Given the description of an element on the screen output the (x, y) to click on. 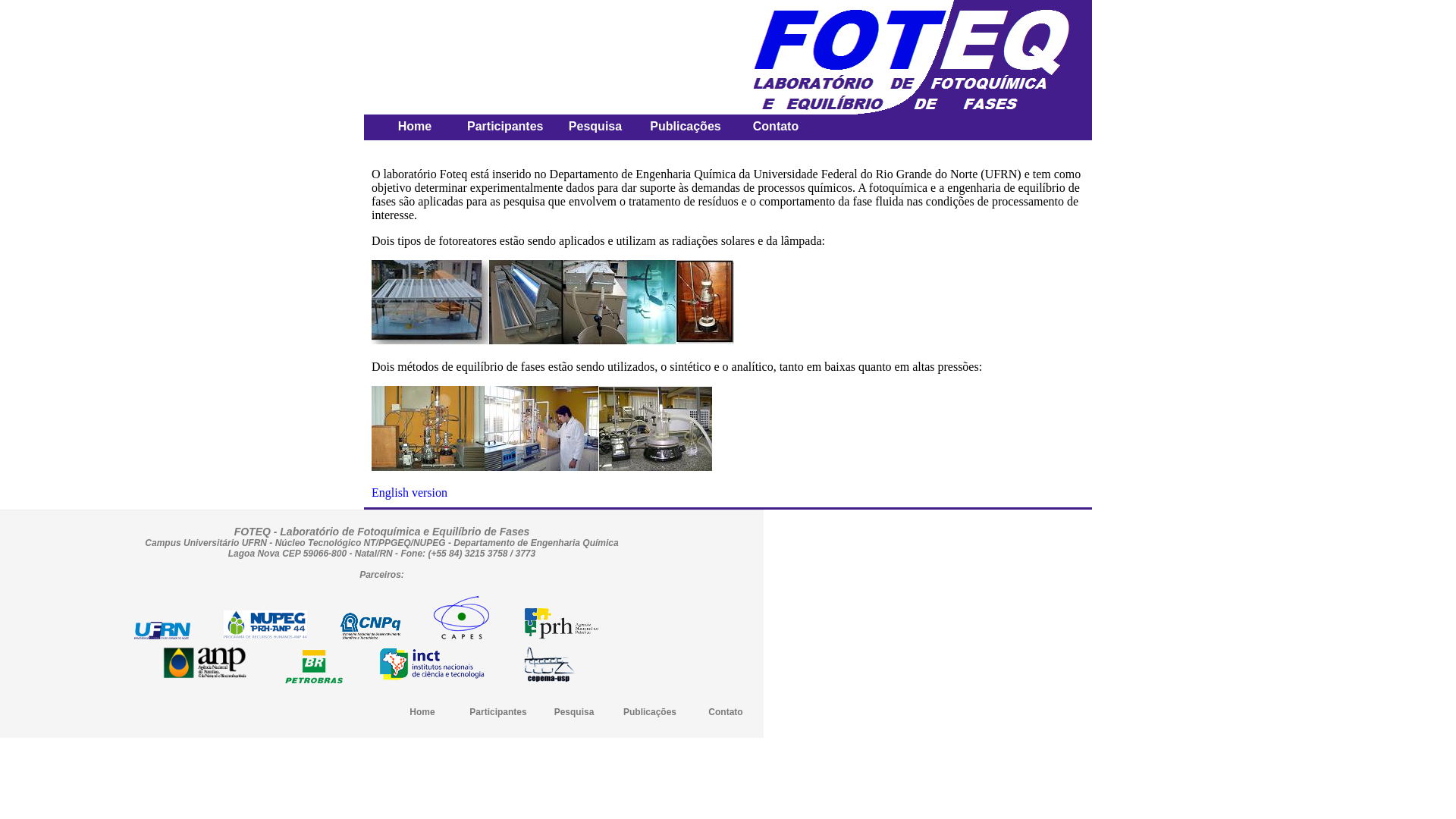
UFRN - Universidade Federal do Rio Grande do Norte Element type: hover (162, 630)
PRH ANP - Programa de Recursos Humanos ANP Element type: hover (561, 622)
Participantes Element type: text (497, 711)
Pesquisa Element type: text (574, 711)
Contato Element type: text (725, 711)
Aparelhos Element type: hover (541, 427)
Petrobras Element type: hover (313, 666)
Foteq logo Element type: hover (922, 57)
Home Element type: text (421, 711)
English version Element type: text (409, 492)
Fotoreatores Element type: hover (552, 302)
